Given the description of an element on the screen output the (x, y) to click on. 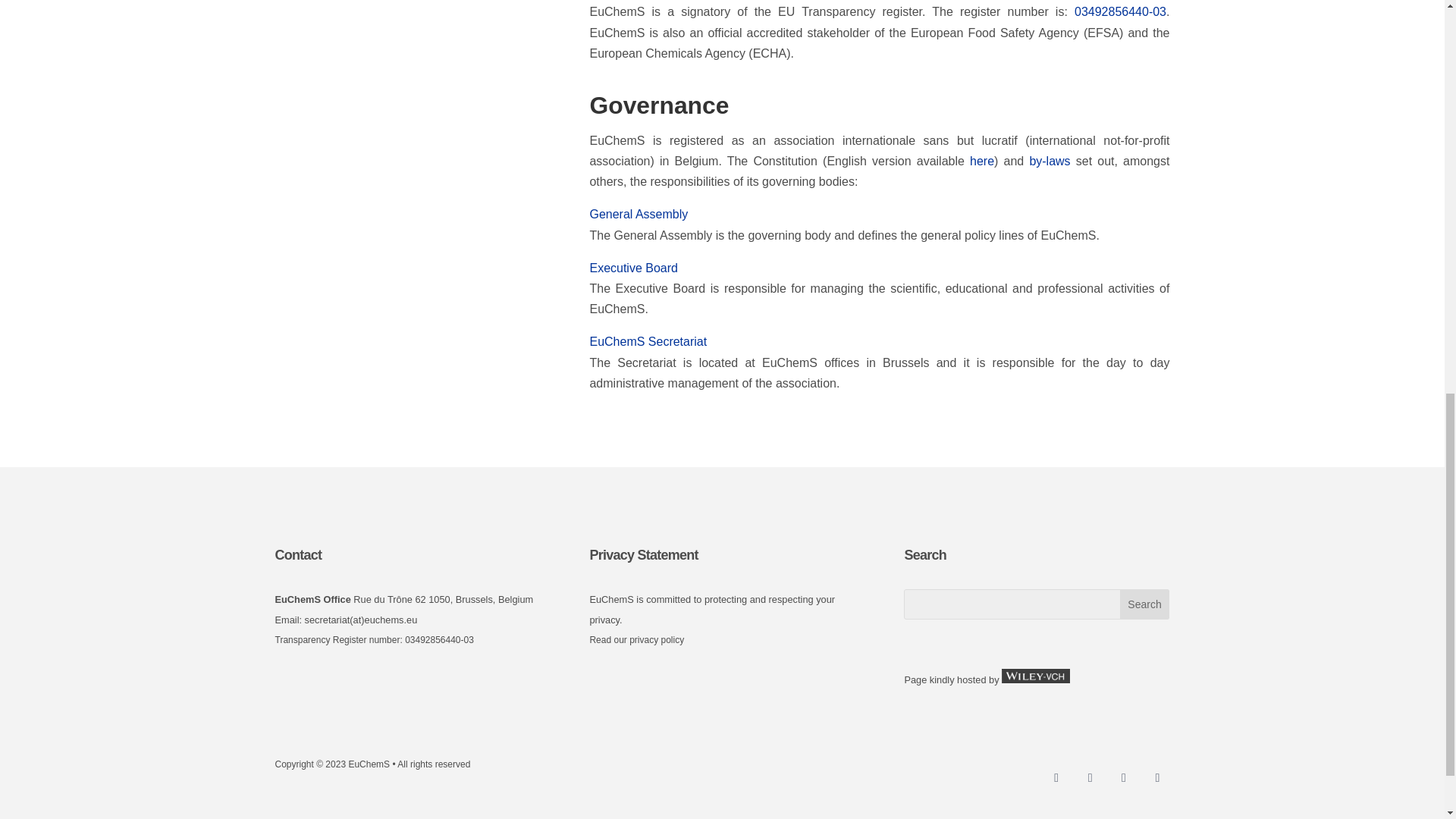
Search (1144, 603)
Follow on Twitter (1090, 777)
Follow on Youtube (1156, 777)
Follow on Linkedin (1123, 777)
Follow on Facebook (1055, 777)
